Given the description of an element on the screen output the (x, y) to click on. 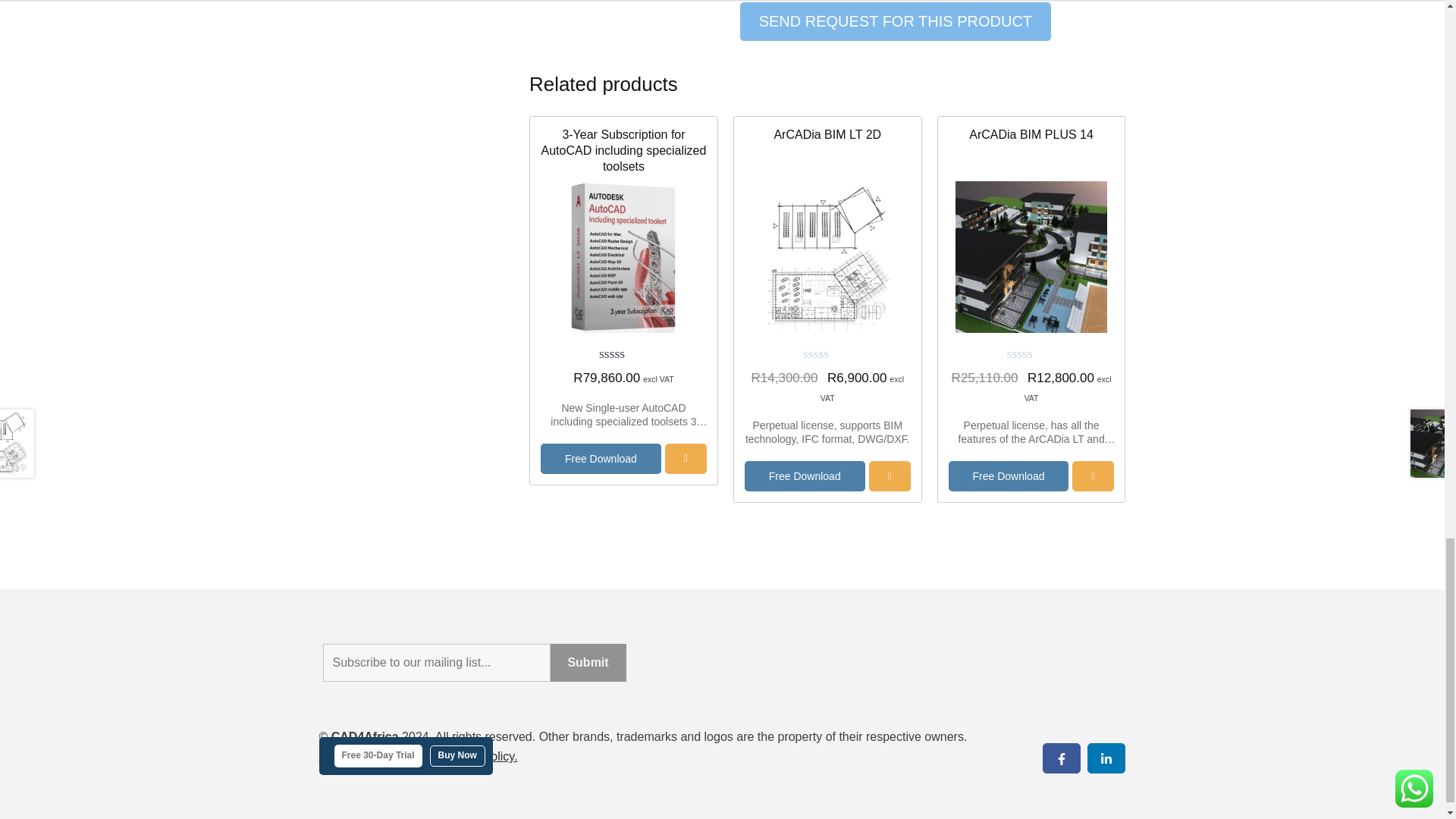
Rated 5.00 out of 5 (622, 355)
Submit (588, 662)
